Given the description of an element on the screen output the (x, y) to click on. 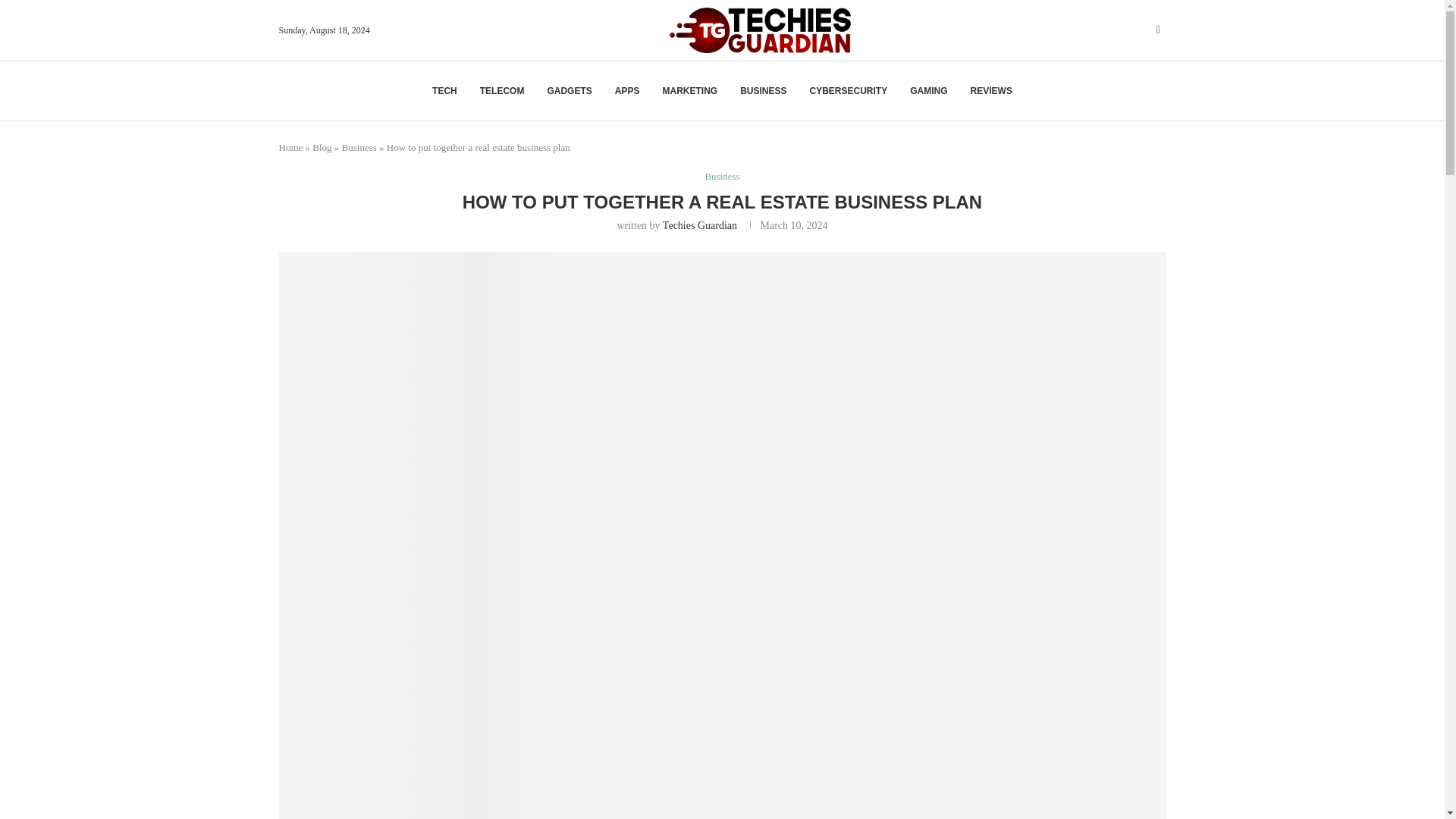
TELECOM (502, 90)
REVIEWS (991, 90)
CYBERSECURITY (848, 90)
BUSINESS (762, 90)
GADGETS (569, 90)
MARKETING (689, 90)
